Given the description of an element on the screen output the (x, y) to click on. 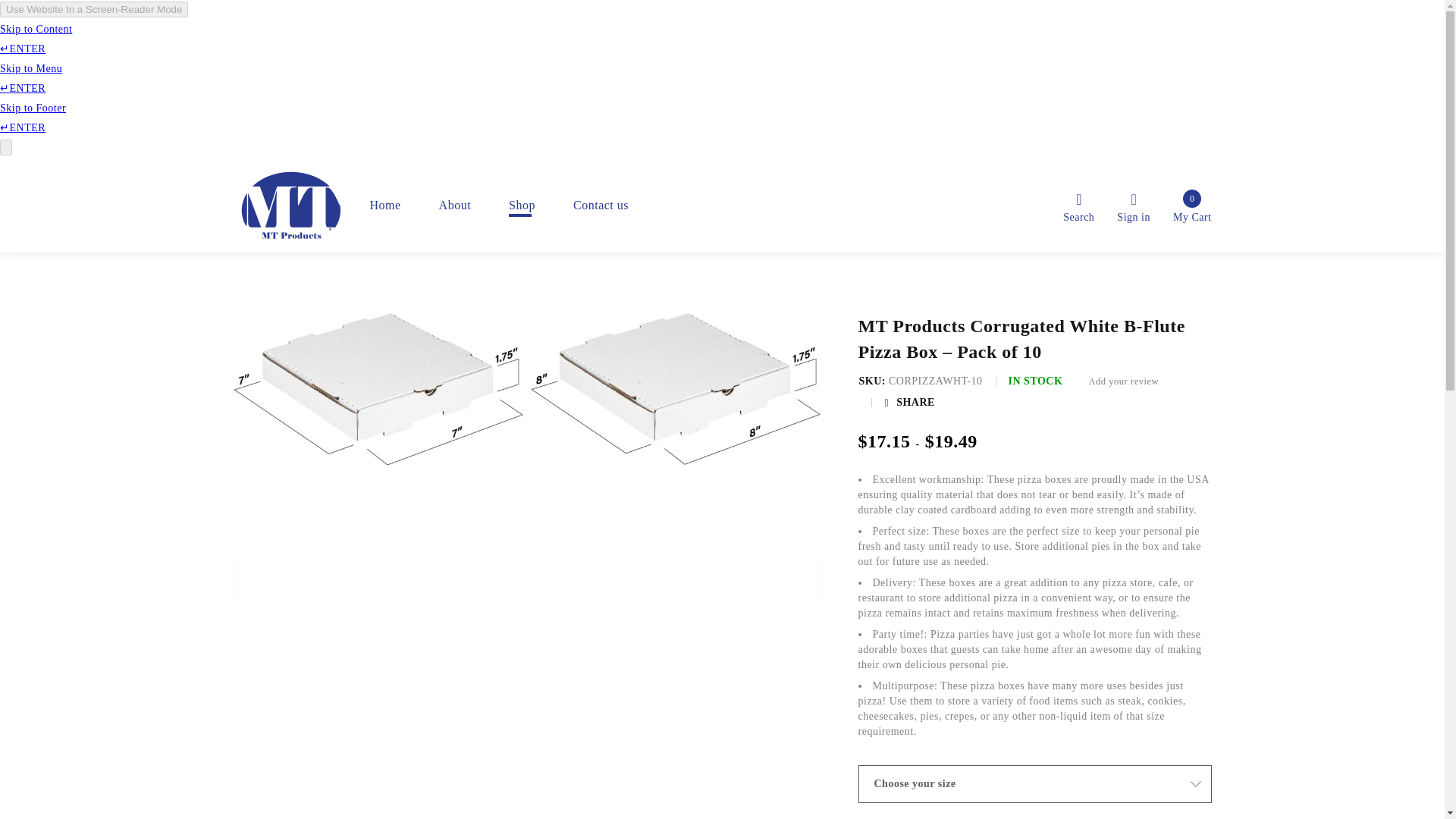
View your shopping cart (1192, 204)
Sign in (1133, 204)
About (455, 204)
Search (1192, 204)
Sign in (355, 204)
Contact us (1133, 204)
Home (600, 204)
Enzy (385, 204)
